Given the description of an element on the screen output the (x, y) to click on. 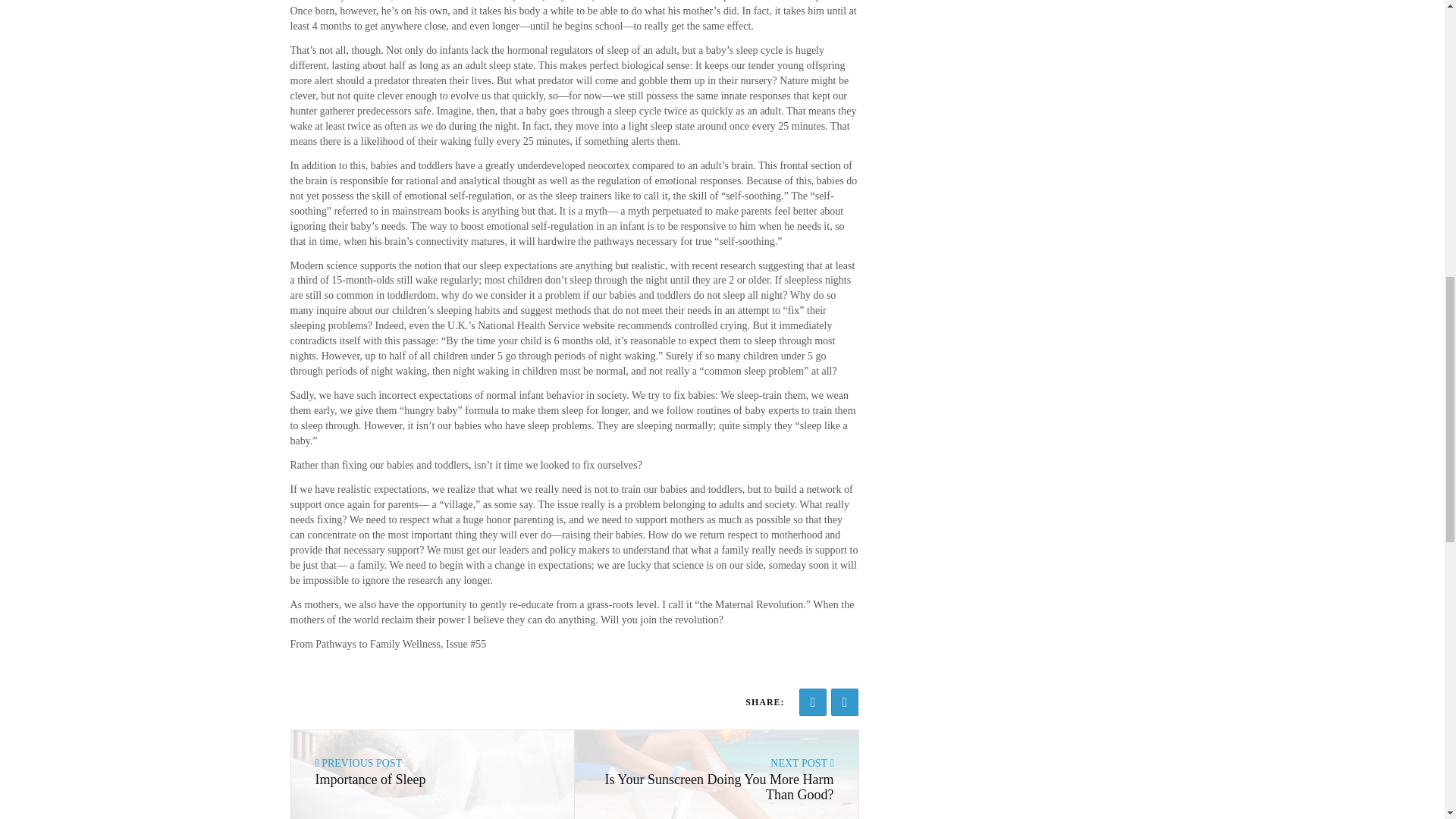
Tweet (845, 701)
Share on Facebook (813, 701)
